Given the description of an element on the screen output the (x, y) to click on. 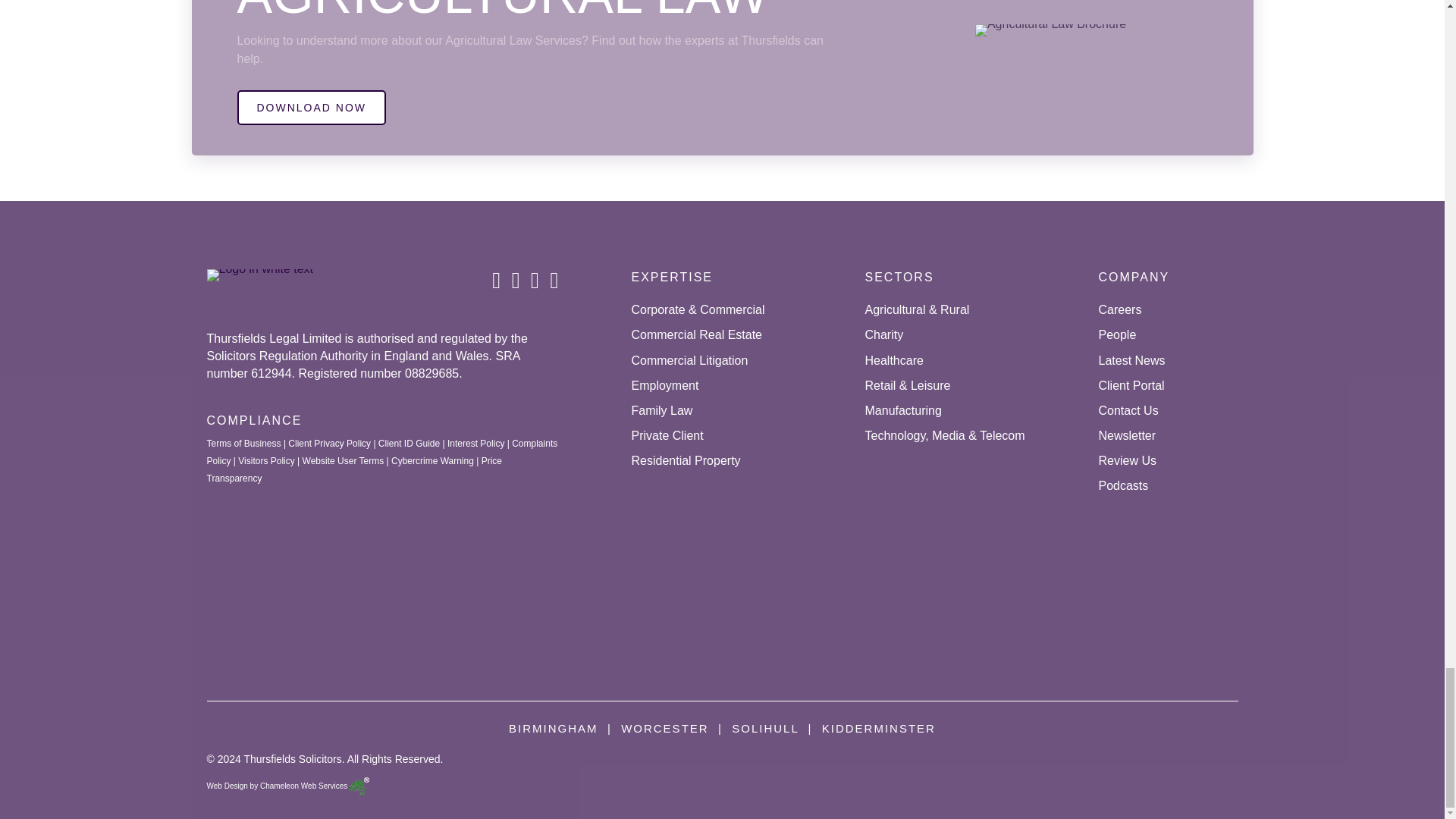
Compliance (253, 420)
Sectors (898, 277)
Expertise (671, 277)
Company (1133, 277)
logo (259, 275)
Web Design Company (287, 786)
Agricultural Law Brochure (1050, 30)
